Given the description of an element on the screen output the (x, y) to click on. 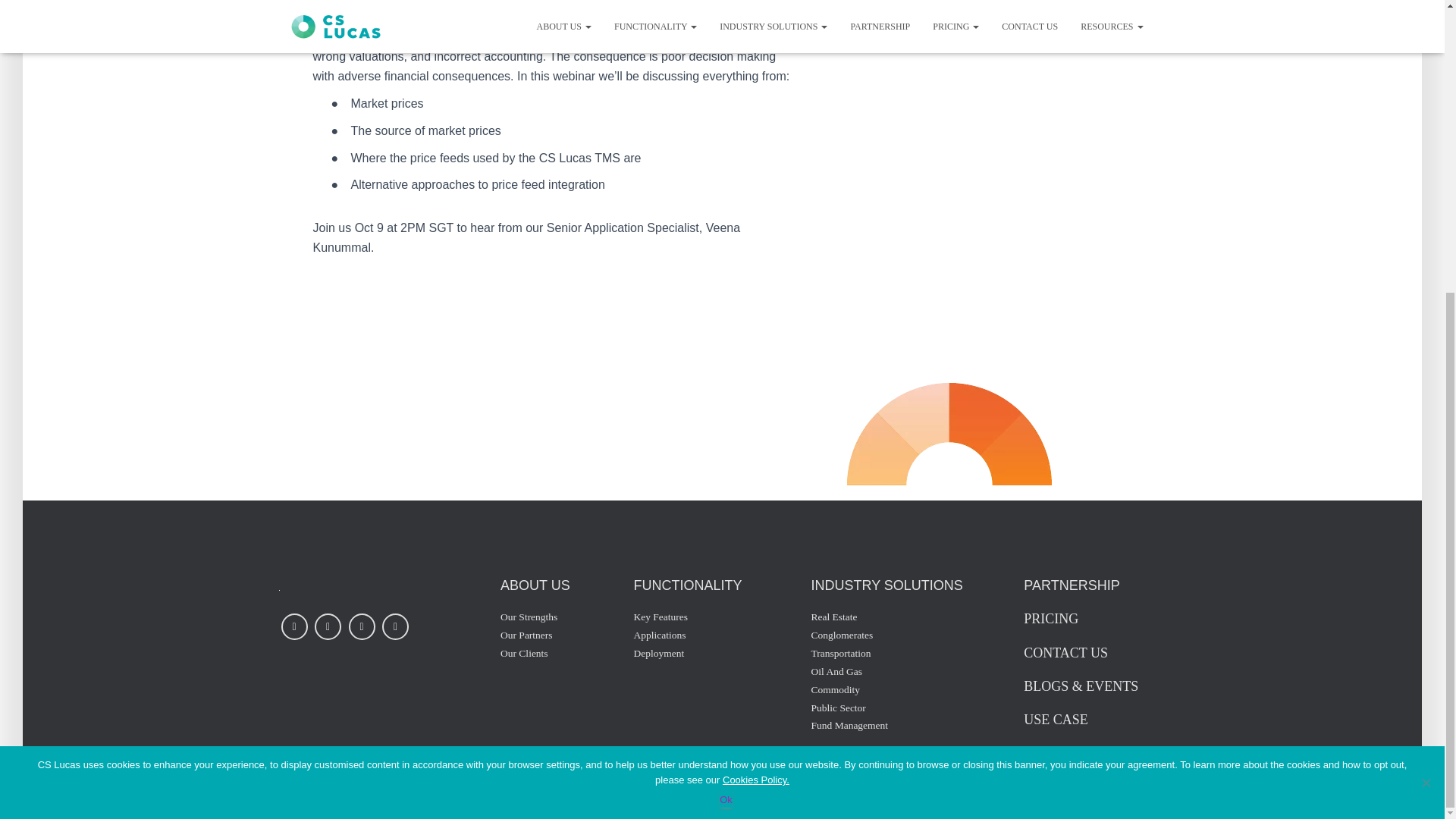
Key Features (660, 617)
Our Partners (526, 635)
ABOUT US (535, 585)
FUNCTIONALITY (687, 585)
Our Clients (524, 653)
Applications (659, 635)
Our Strengths (528, 617)
